Given the description of an element on the screen output the (x, y) to click on. 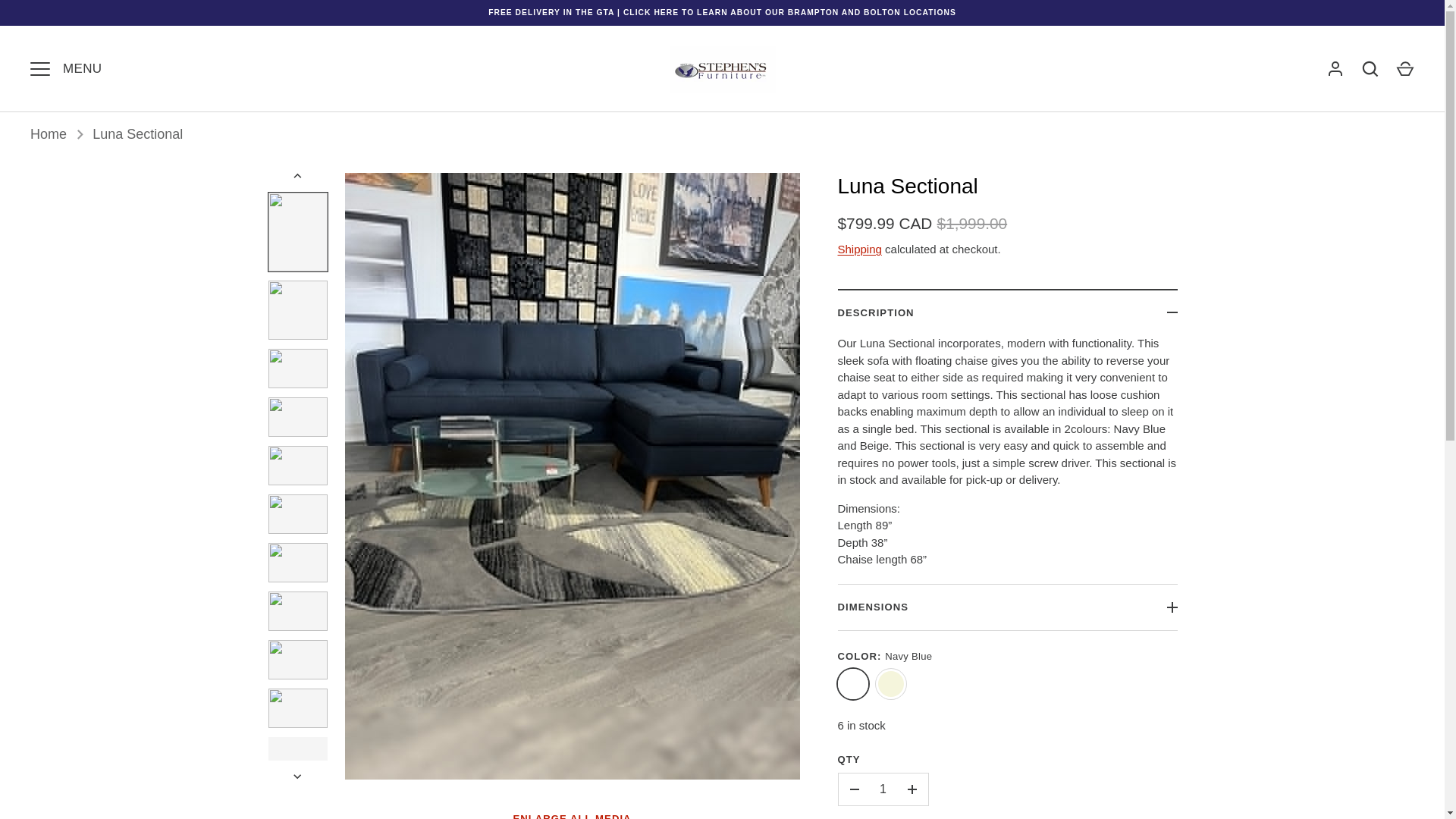
1 (883, 789)
